Given the description of an element on the screen output the (x, y) to click on. 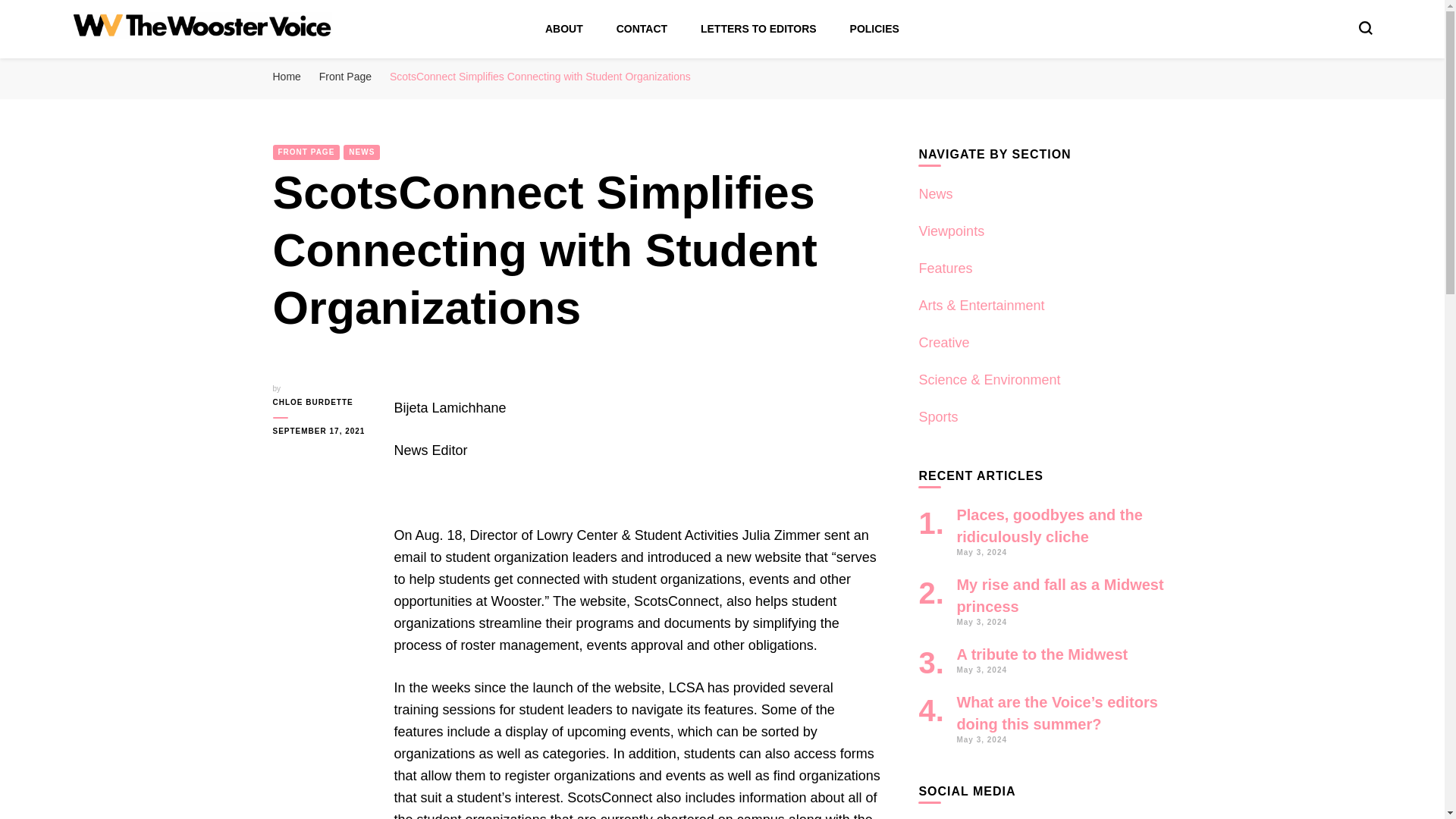
NEWS (361, 151)
CHLOE BURDETTE (322, 402)
The Wooster Voice (180, 61)
Front Page (344, 76)
POLICIES (874, 28)
Sports (938, 417)
News (935, 193)
LETTERS TO EDITORS (758, 28)
Viewpoints (951, 231)
Creative (943, 342)
